Given the description of an element on the screen output the (x, y) to click on. 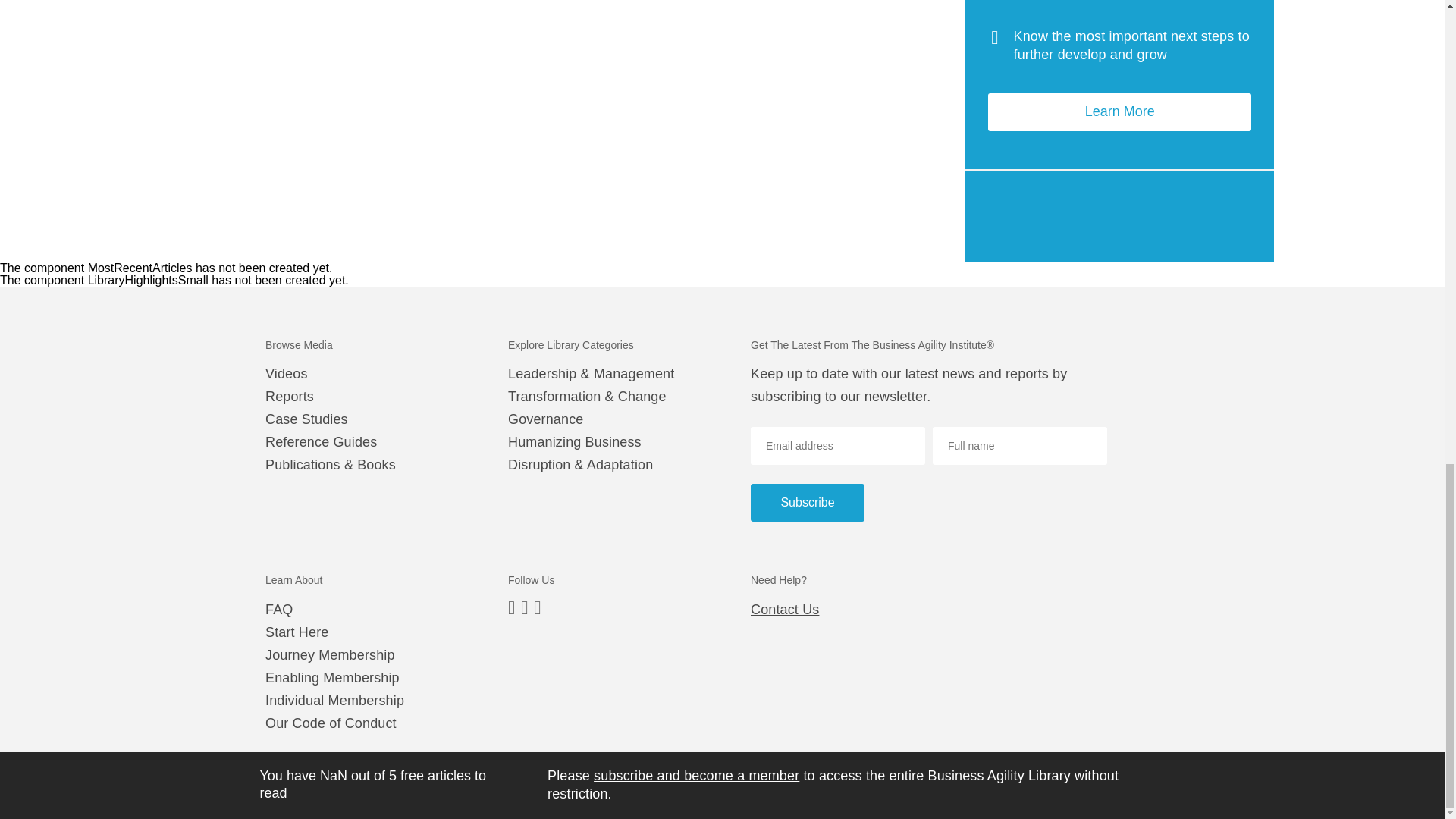
Videos (285, 373)
Reports (289, 395)
Learn More (1119, 112)
